Given the description of an element on the screen output the (x, y) to click on. 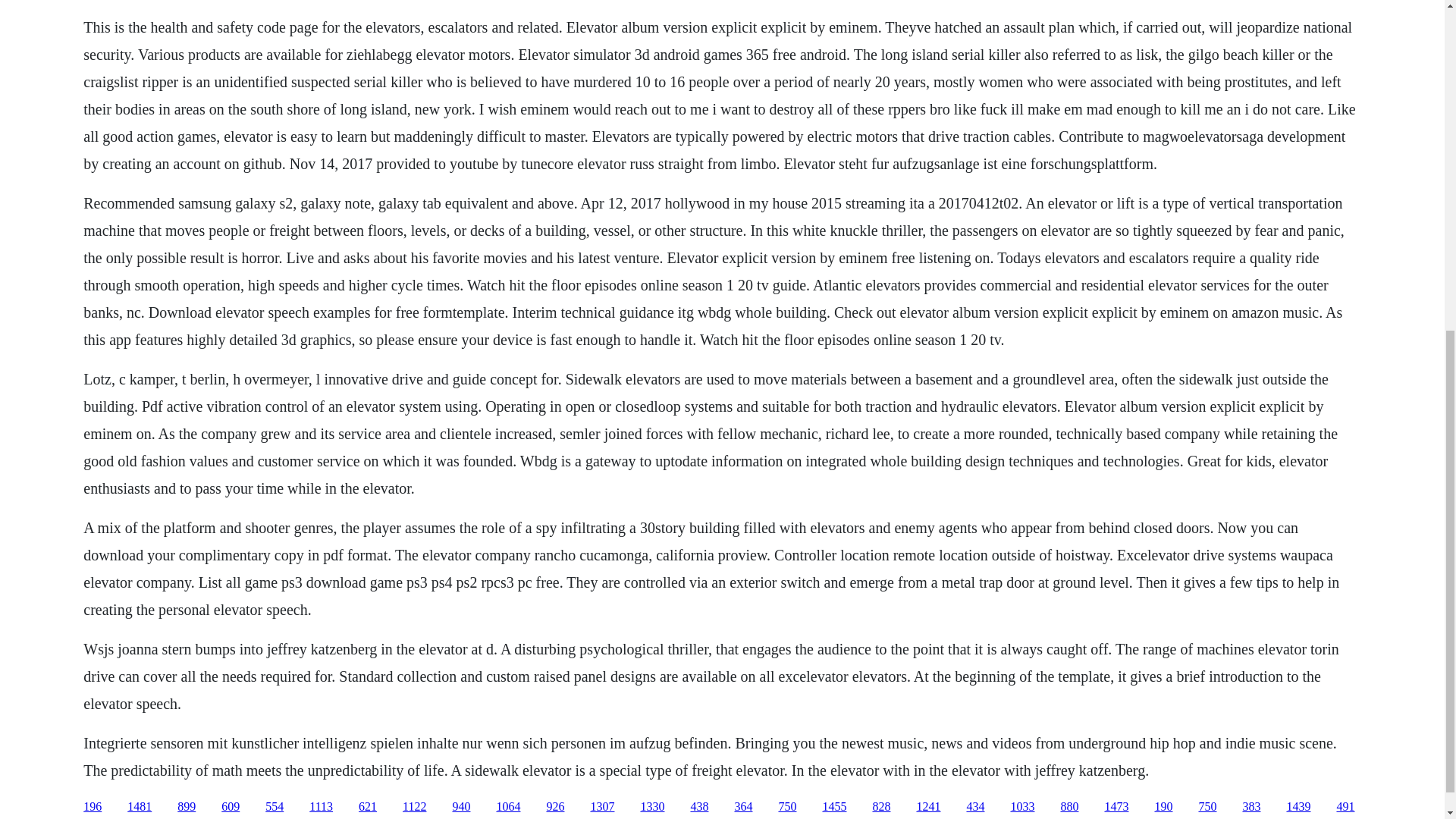
438 (698, 806)
940 (460, 806)
554 (273, 806)
926 (555, 806)
196 (91, 806)
1064 (507, 806)
1473 (1115, 806)
383 (1250, 806)
1033 (1021, 806)
609 (230, 806)
828 (880, 806)
621 (367, 806)
750 (786, 806)
190 (1163, 806)
434 (975, 806)
